Given the description of an element on the screen output the (x, y) to click on. 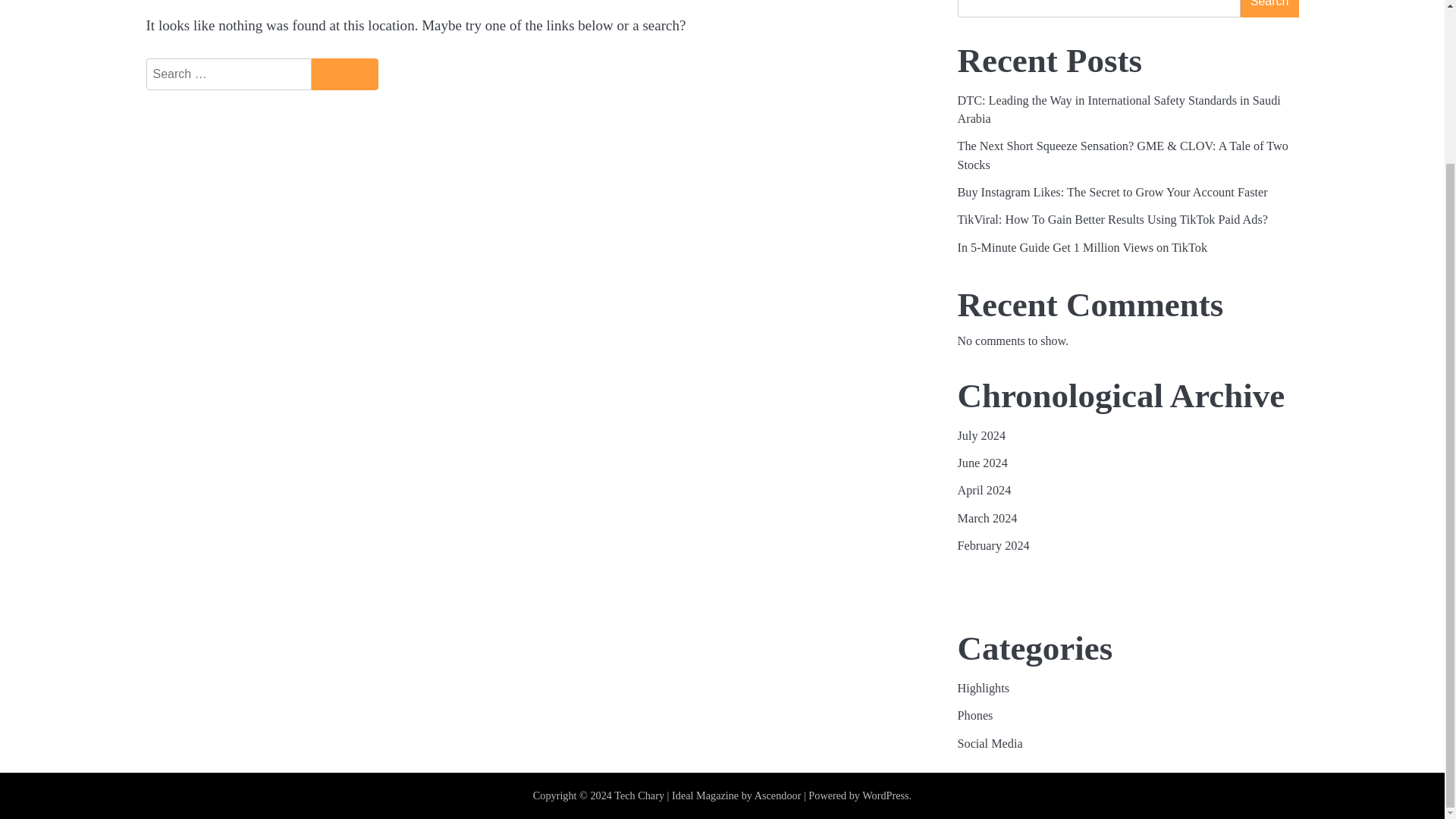
July 2024 (981, 436)
Social Media (989, 744)
WordPress (884, 795)
TikViral: How To Gain Better Results Using TikTok Paid Ads?  (1112, 219)
In 5-Minute Guide Get 1 Million Views on TikTok (1081, 247)
Phones (974, 715)
Ascendoor (778, 795)
Search (344, 74)
Tech Chary (638, 795)
June 2024 (981, 463)
Search (1269, 8)
Highlights (982, 688)
Search (344, 74)
Buy Instagram Likes: The Secret to Grow Your Account Faster (1111, 192)
Search (344, 74)
